Given the description of an element on the screen output the (x, y) to click on. 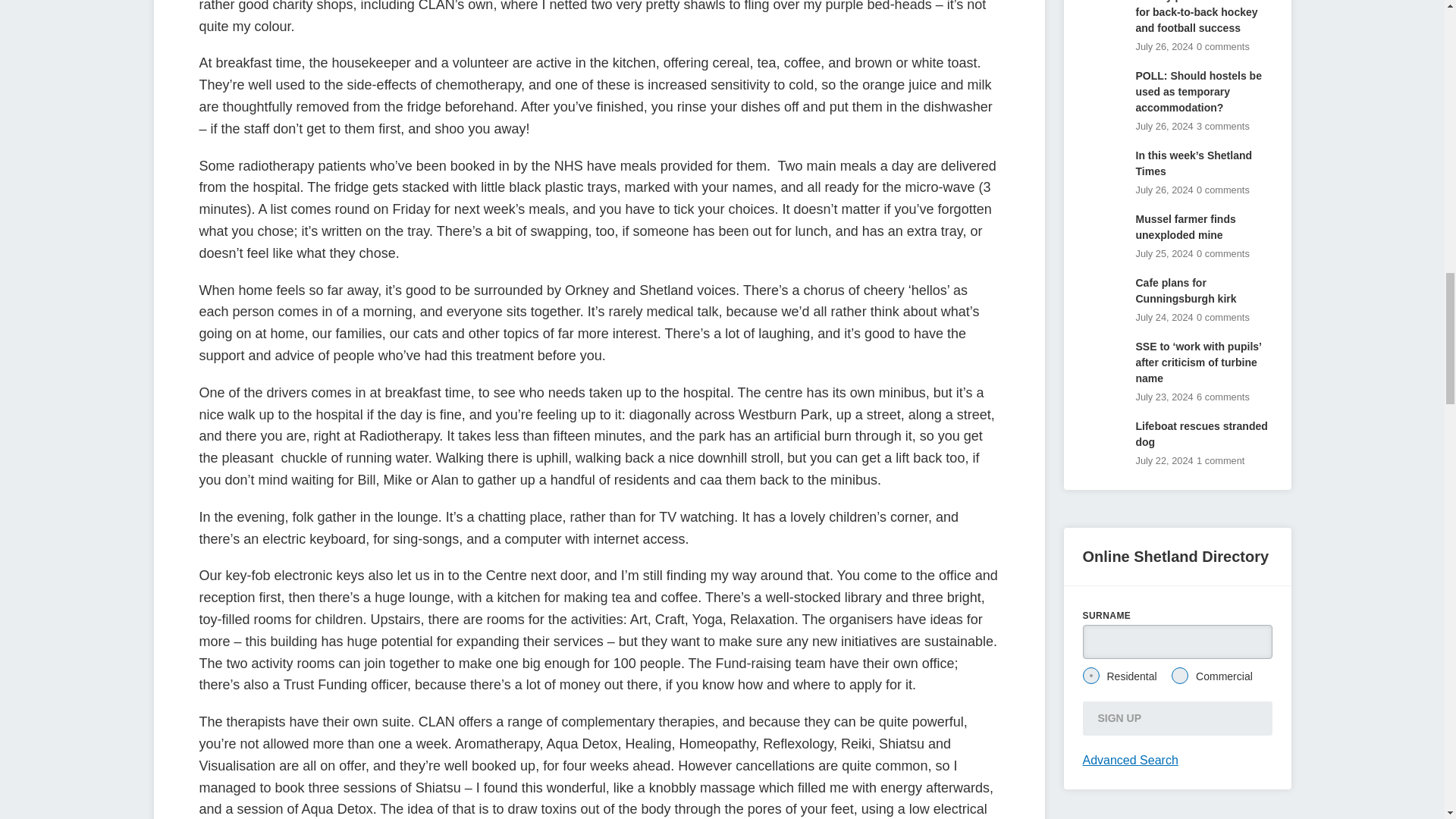
residential (1091, 675)
commercial (1180, 675)
